Given the description of an element on the screen output the (x, y) to click on. 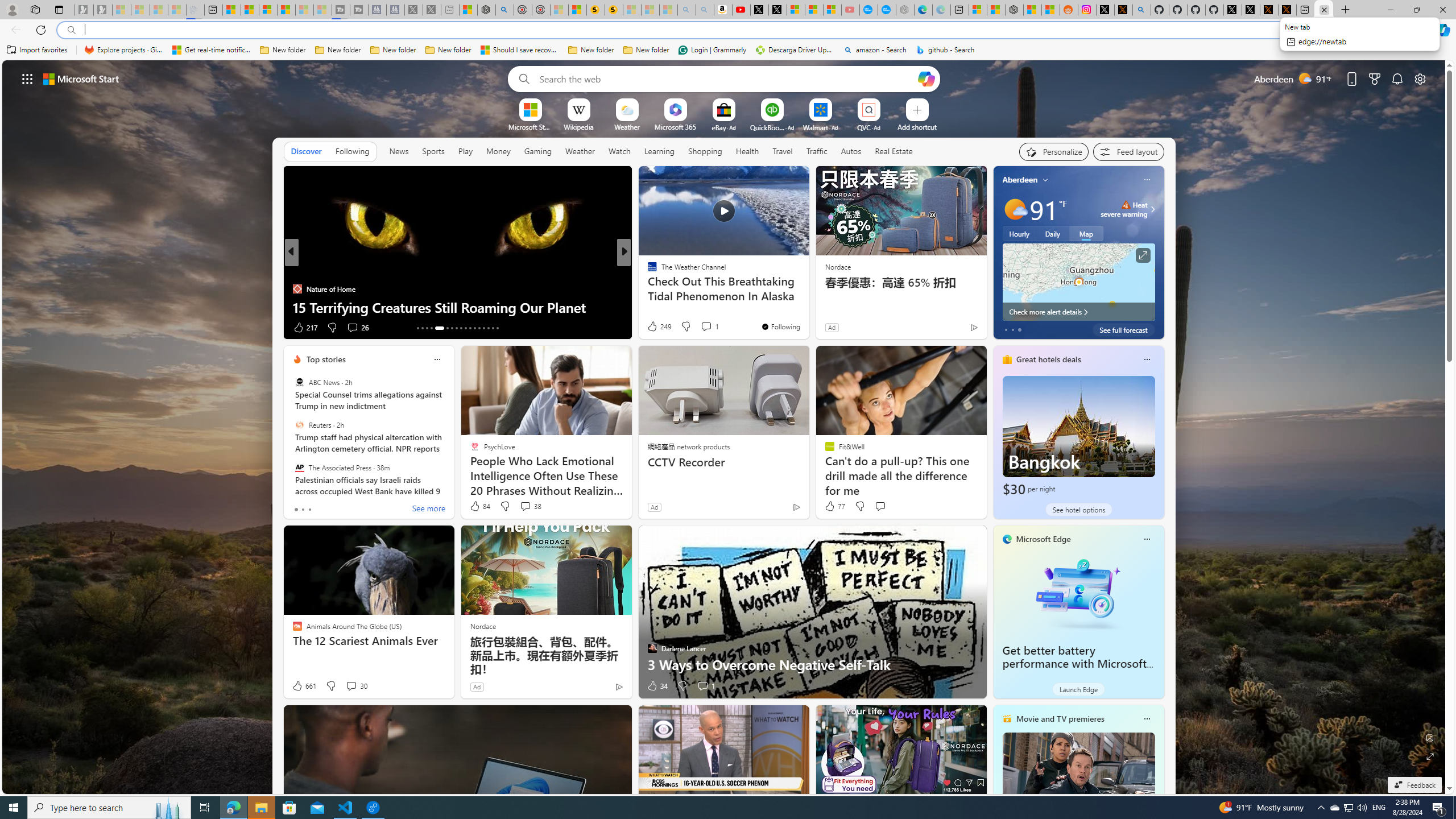
AutomationID: tab-27 (488, 328)
30 Like (652, 327)
Gloom - YouTube - Sleeping (850, 9)
15 Terrifying Creatures Still Roaming Our Planet (457, 307)
27 Like (652, 327)
View comments 8 Comment (702, 327)
AutomationID: tab-17 (439, 328)
github - Search (1142, 9)
